Given the description of an element on the screen output the (x, y) to click on. 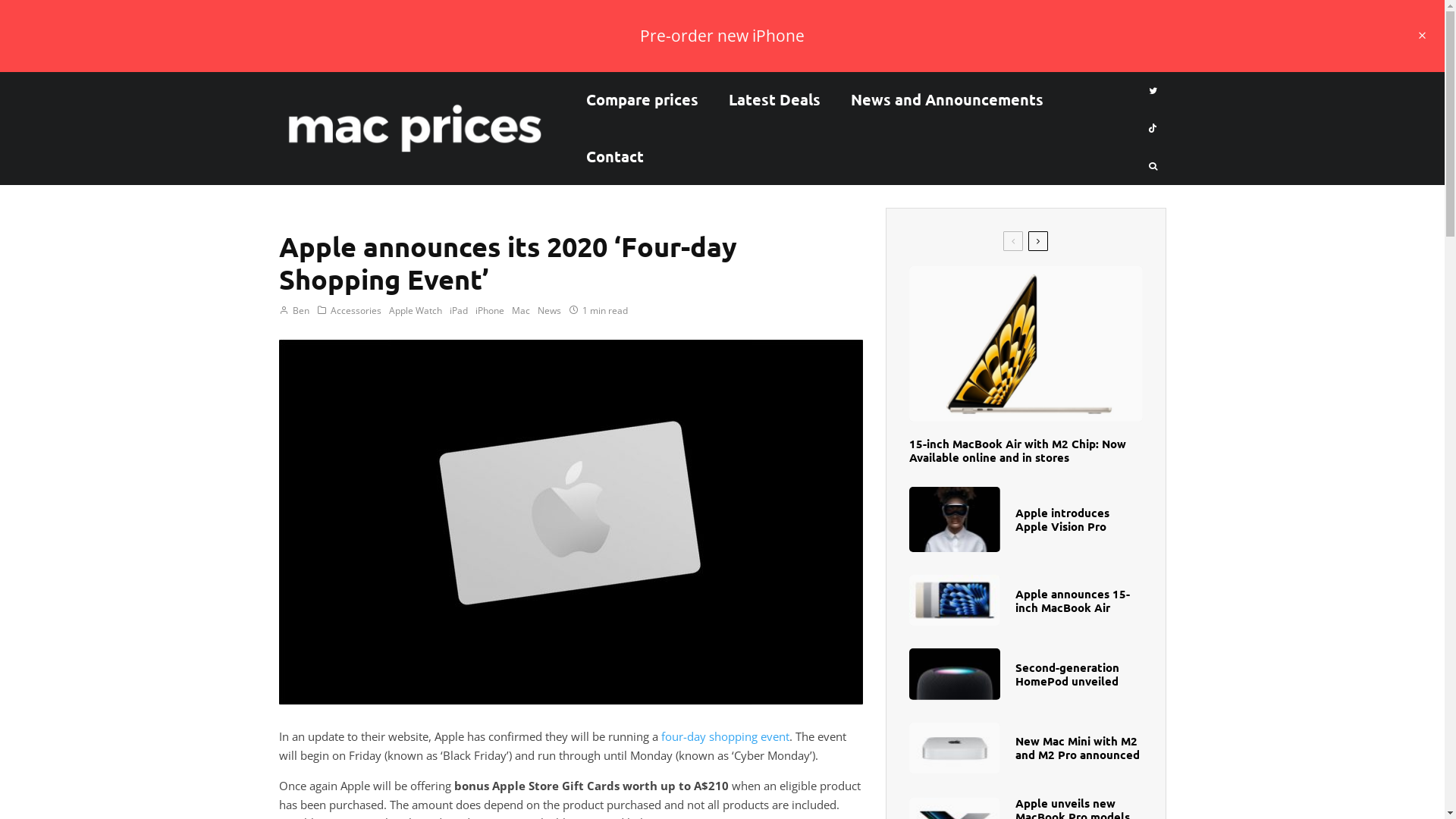
Second-generation HomePod unveiled Element type: text (1078, 673)
iPad Element type: text (457, 310)
Pre-order new iPhone Element type: text (722, 35)
Apple introduces Apple Vision Pro Element type: text (1078, 519)
Contact Element type: text (614, 156)
News and Announcements Element type: text (946, 100)
New Mac Mini with M2 and M2 Pro announced Element type: text (1078, 747)
four-day shopping event Element type: text (725, 735)
Apple Watch Element type: text (414, 310)
Compare prices Element type: text (642, 100)
Accessories Element type: text (355, 310)
News Element type: text (548, 310)
Latest Deals Element type: text (774, 100)
iPhone Element type: text (488, 310)
Mac Element type: text (520, 310)
Ben Element type: text (294, 310)
Apple announces 15-inch MacBook Air Element type: text (1078, 600)
